Given the description of an element on the screen output the (x, y) to click on. 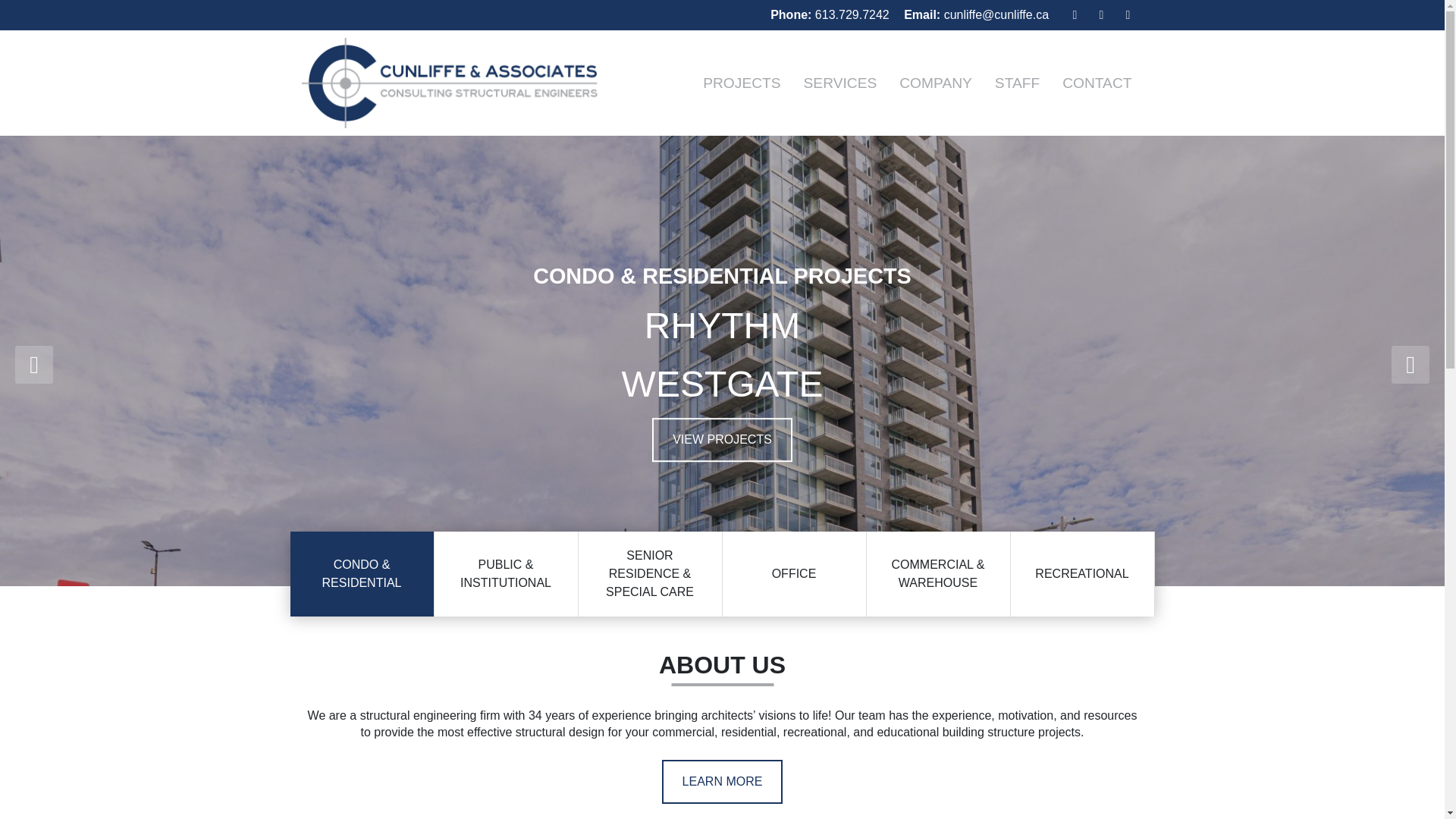
PROJECTS (741, 83)
SERVICES (840, 83)
613.729.7242 (852, 14)
COMPANY (936, 83)
STAFF (1017, 83)
CONTACT (1096, 83)
